Given the description of an element on the screen output the (x, y) to click on. 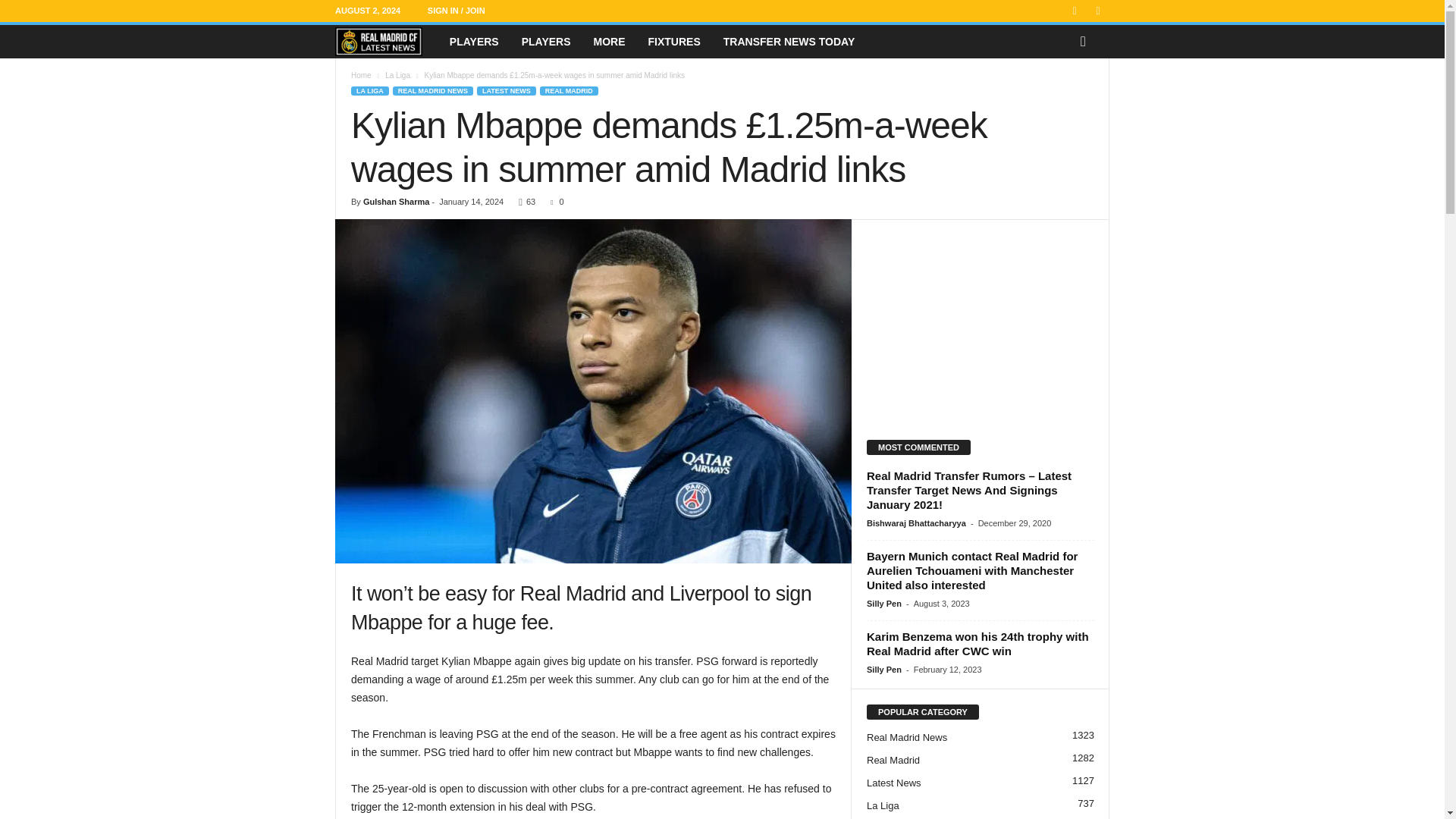
View all posts in La Liga (397, 75)
Real Madrid Latest News Now Today Morning (378, 41)
